Given the description of an element on the screen output the (x, y) to click on. 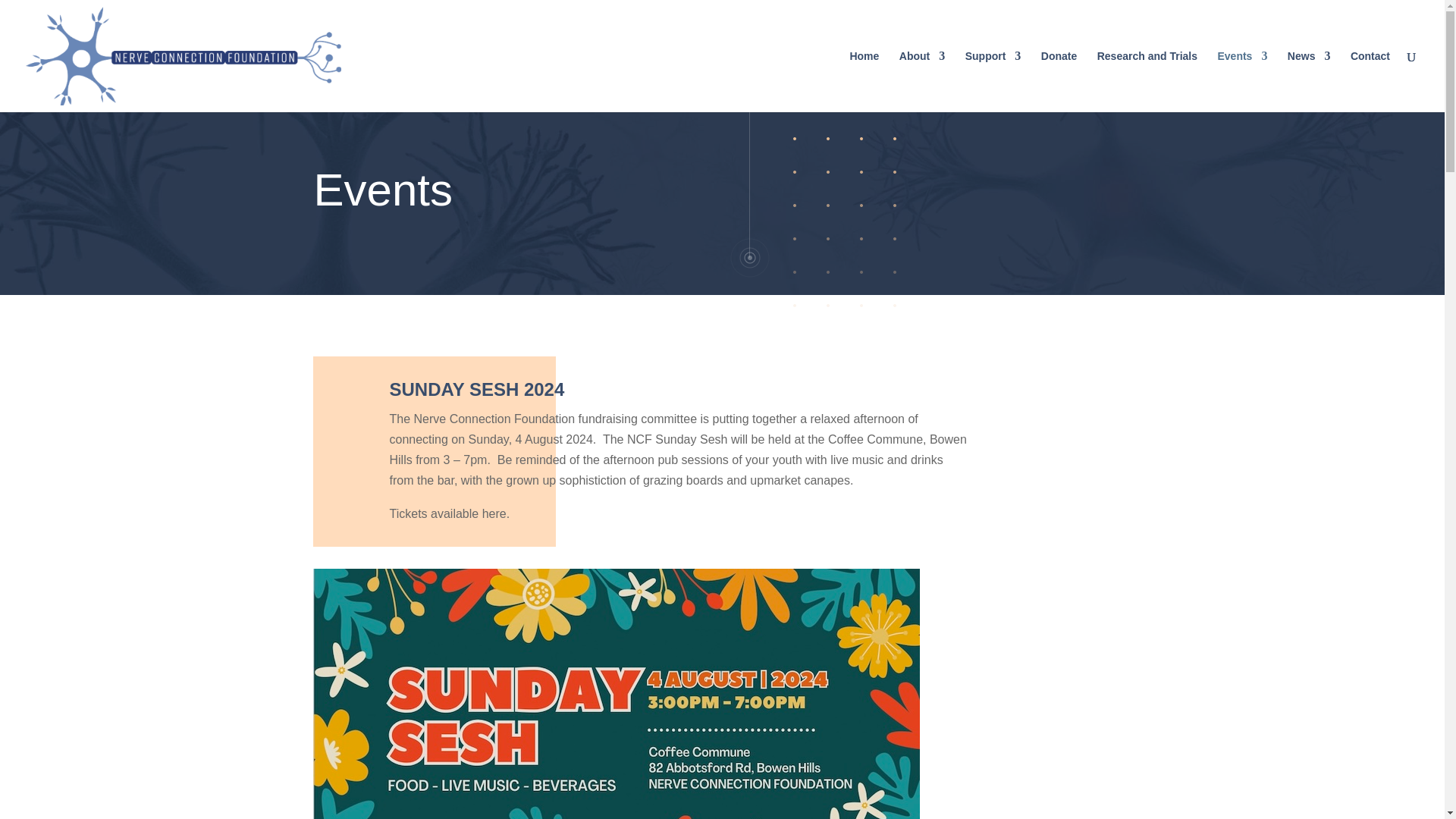
Research and Trials (1146, 81)
Support (993, 81)
